Given the description of an element on the screen output the (x, y) to click on. 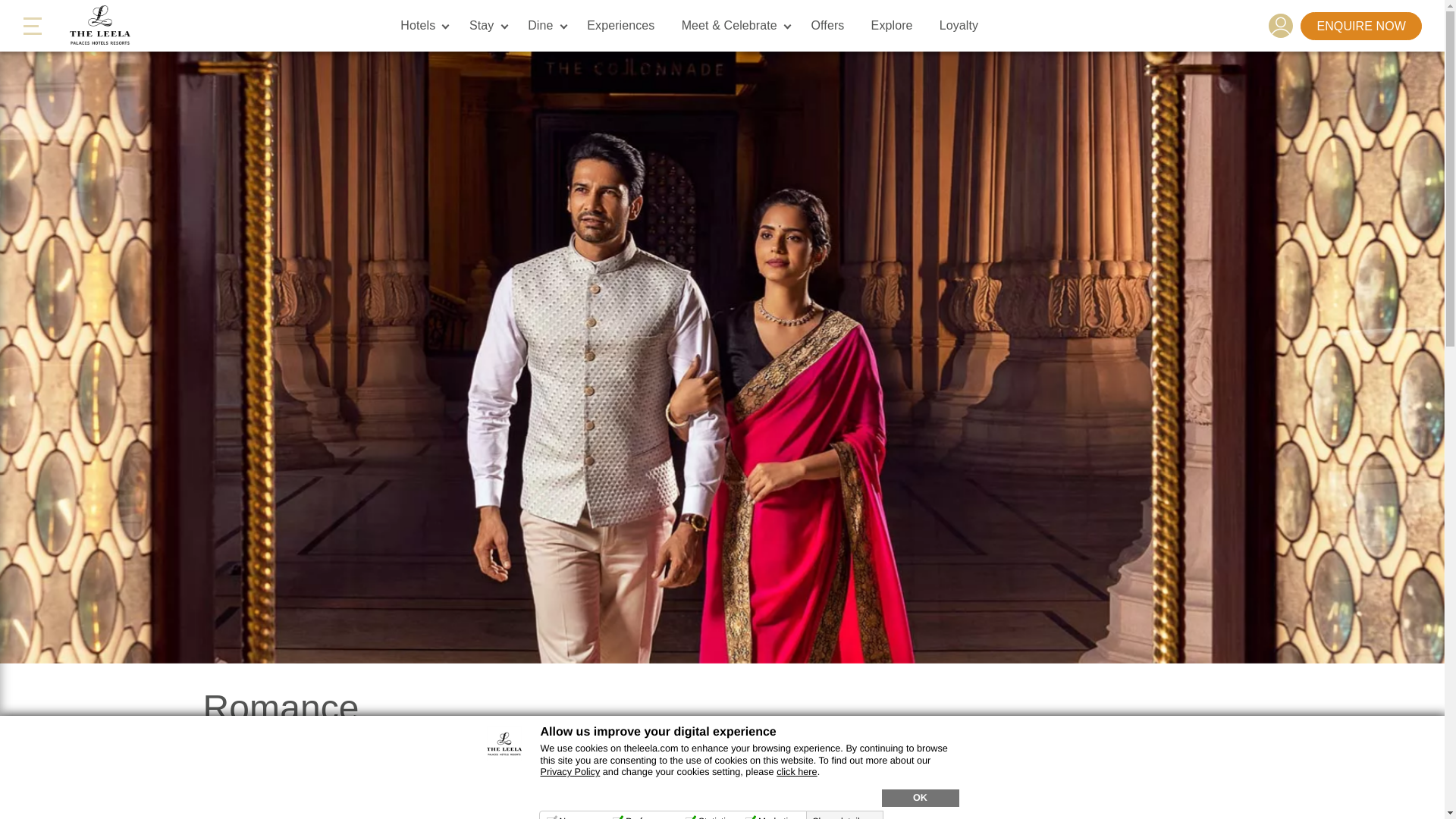
click here (796, 771)
Show details (845, 816)
Privacy Policy (569, 771)
OK (919, 798)
